Given the description of an element on the screen output the (x, y) to click on. 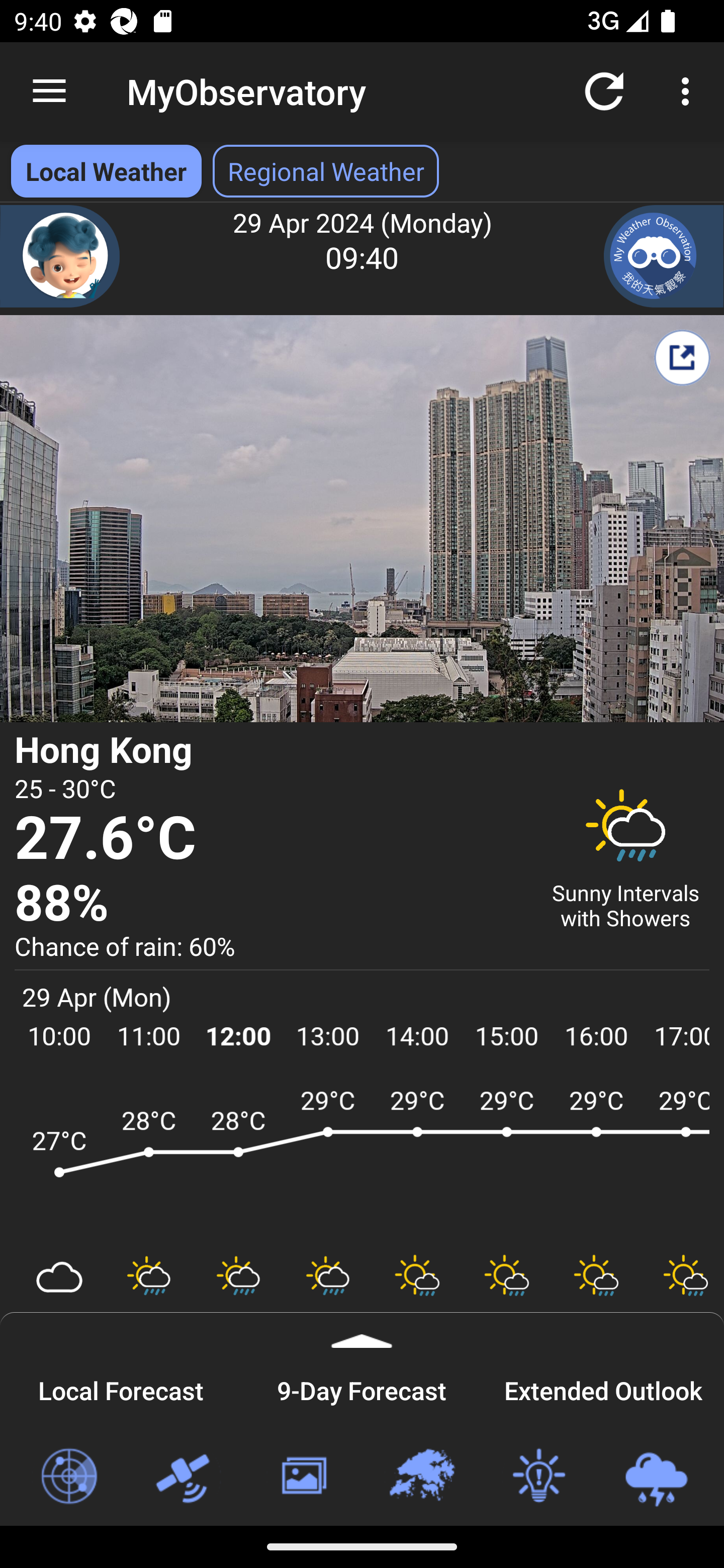
Navigate up (49, 91)
Refresh (604, 90)
More options (688, 90)
Local Weather Local Weather selected (105, 170)
Regional Weather Select Regional Weather (325, 170)
Chatbot (60, 256)
My Weather Observation (663, 256)
Share My Weather Report (681, 357)
27.6°C Temperature
27.6 degree Celsius (270, 839)
88% Relative Humidity
88 percent (270, 903)
ARWF (361, 1160)
Expand (362, 1330)
Local Forecast (120, 1387)
Extended Outlook (603, 1387)
Radar Images (68, 1476)
Satellite Images (185, 1476)
Weather Photos (302, 1476)
Regional Weather (420, 1476)
Weather Tips (537, 1476)
Loc-based Rain & Lightning Forecast (655, 1476)
